Given the description of an element on the screen output the (x, y) to click on. 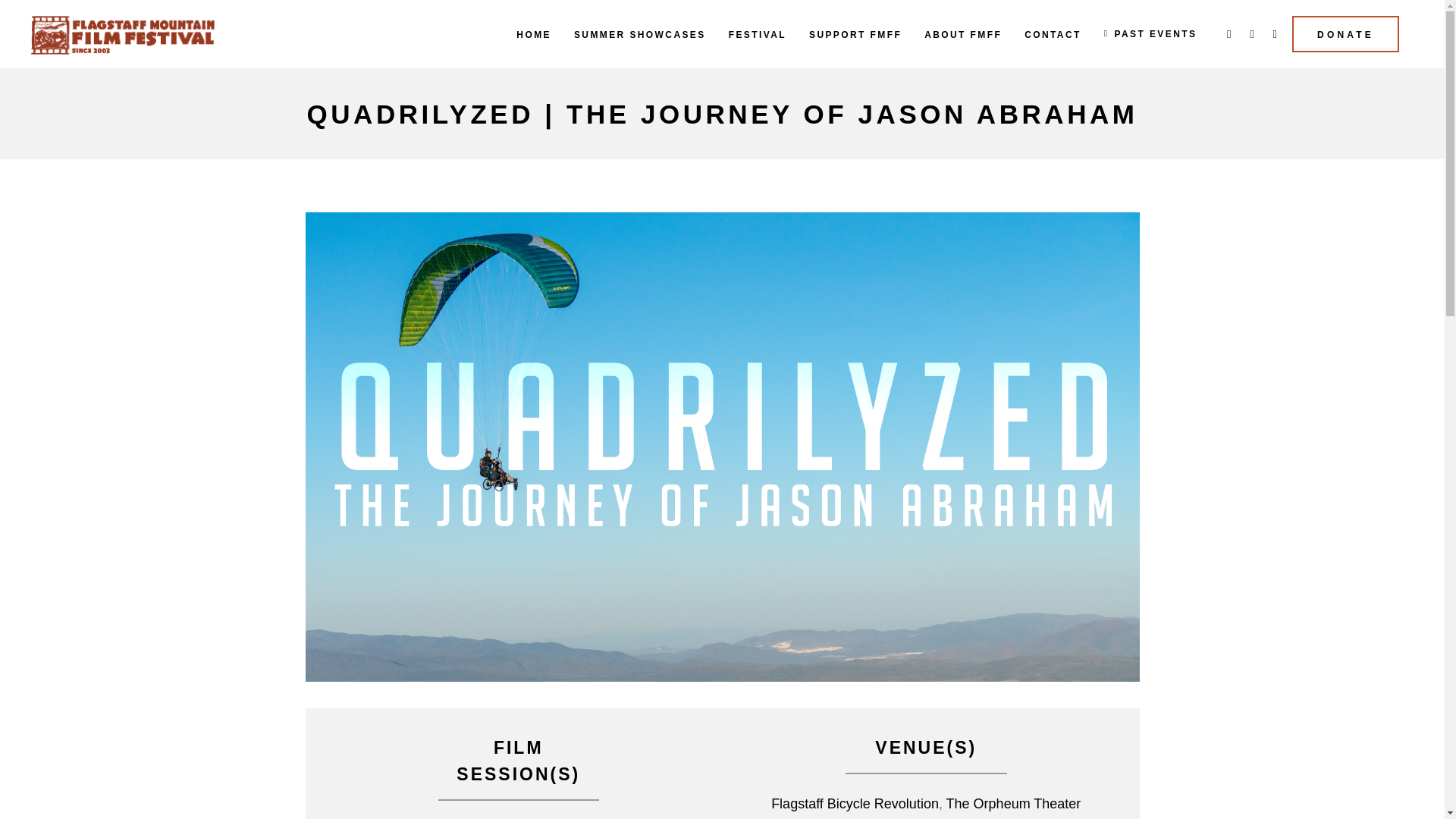
ABOUT FMFF (962, 33)
FESTIVAL (757, 33)
SUMMER SHOWCASES (639, 33)
SUPPORT FMFF (854, 33)
CONTACT (1053, 33)
